Given the description of an element on the screen output the (x, y) to click on. 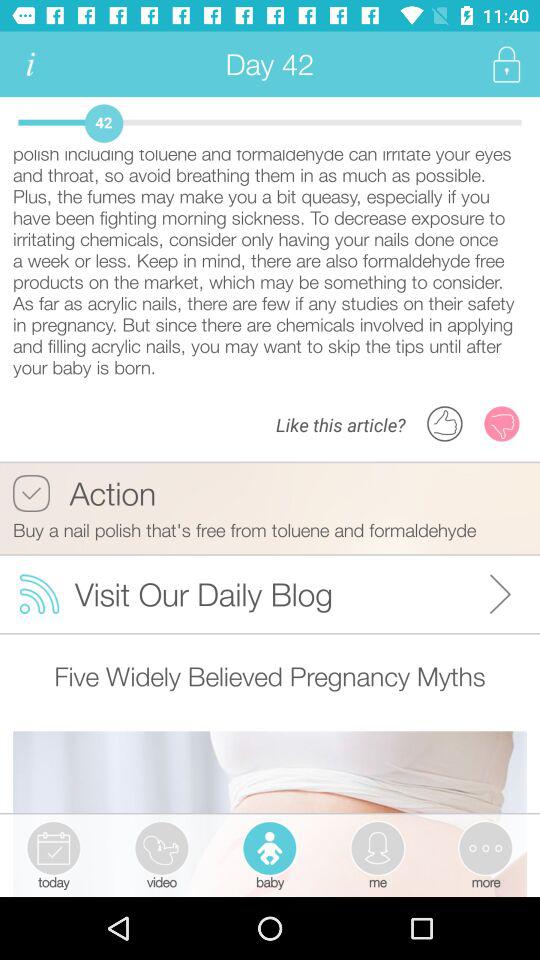
turn off the app to the left of the day 42 icon (30, 63)
